Given the description of an element on the screen output the (x, y) to click on. 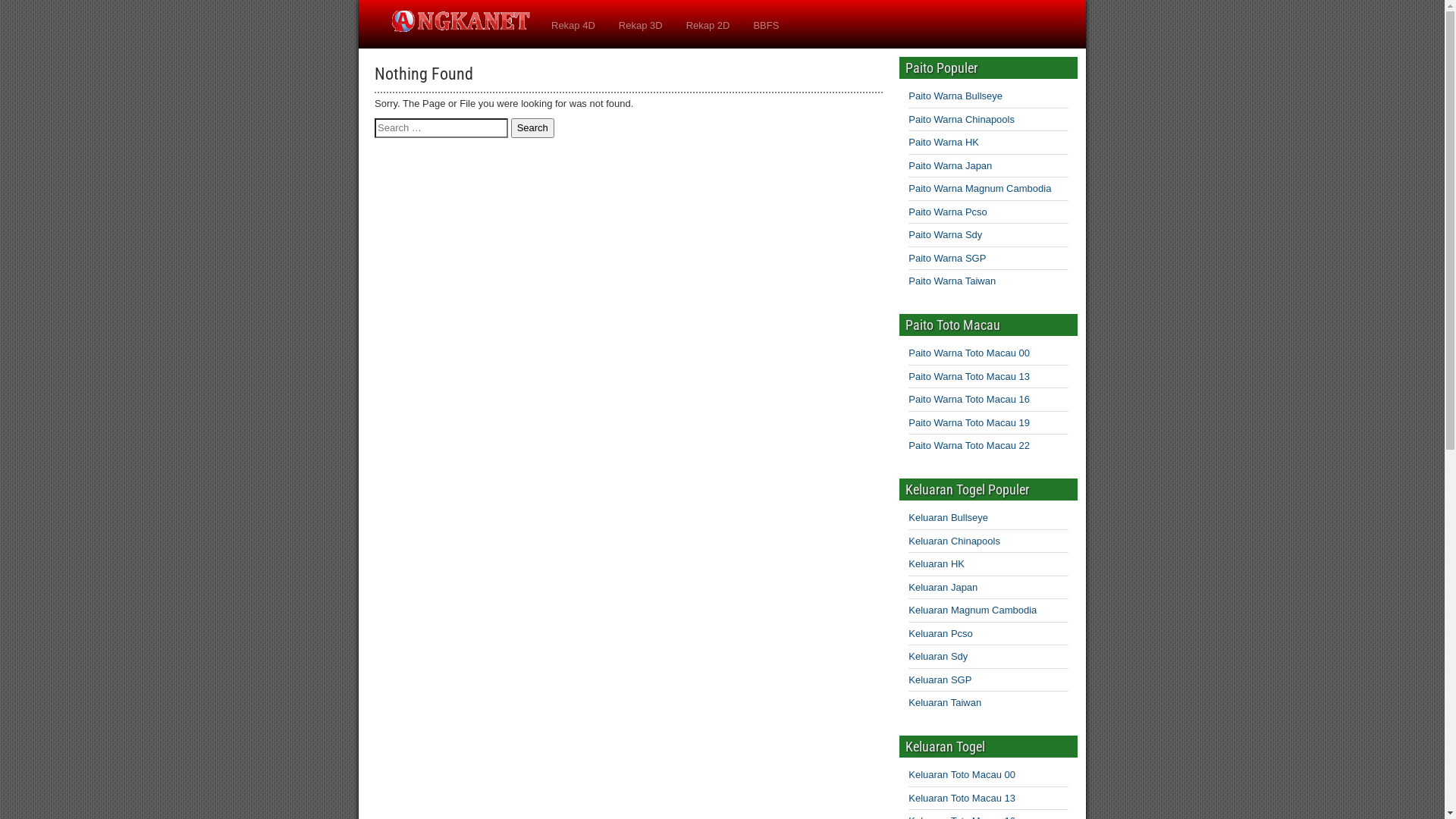
Paito Warna Taiwan Element type: text (951, 280)
Paito Warna Sdy Element type: text (945, 234)
Keluaran Toto Macau 00 Element type: text (961, 774)
Rekap 3D Element type: text (640, 25)
Keluaran Magnum Cambodia Element type: text (972, 609)
Keluaran Toto Macau 13 Element type: text (961, 797)
Keluaran Pcso Element type: text (940, 633)
Paito Warna Toto Macau 19 Element type: text (968, 422)
Search Element type: text (532, 128)
BBFS Element type: text (765, 25)
Rekap 2D Element type: text (708, 25)
Keluaran Sdy Element type: text (937, 656)
Paito Warna Toto Macau 00 Element type: text (968, 352)
Paito Warna Bullseye Element type: text (955, 95)
Keluaran Bullseye Element type: text (948, 517)
Rekap 4D Element type: text (573, 25)
Paito Warna Toto Macau 22 Element type: text (968, 445)
Keluaran Chinapools Element type: text (954, 540)
Paito Warna SGP Element type: text (946, 257)
Keluaran HK Element type: text (936, 563)
Keluaran Taiwan Element type: text (944, 702)
Paito Warna Pcso Element type: text (947, 211)
Paito Warna HK Element type: text (943, 141)
Paito Warna Chinapools Element type: text (961, 119)
Paito Warna Toto Macau 13 Element type: text (968, 376)
Keluaran SGP Element type: text (939, 679)
Keluaran Japan Element type: text (942, 587)
Paito Warna Magnum Cambodia Element type: text (979, 188)
Paito Warna Toto Macau 16 Element type: text (968, 398)
Paito Warna Japan Element type: text (949, 165)
